Given the description of an element on the screen output the (x, y) to click on. 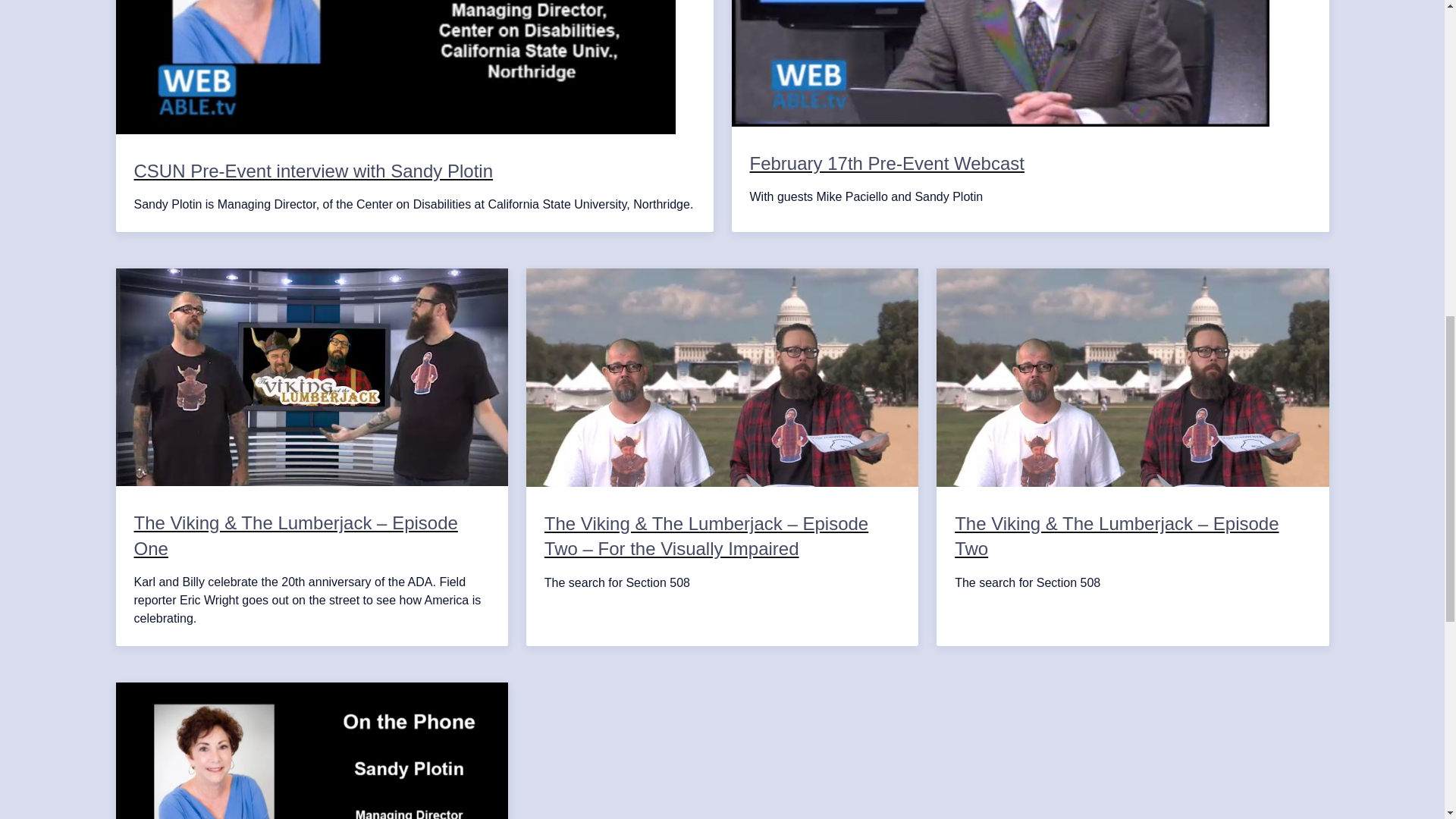
CSUN Pre-Event interview with Sandy Plotin (413, 162)
February 17th Pre-Event Webcast (1029, 154)
Interview with Sandy Plotin (311, 750)
